Given the description of an element on the screen output the (x, y) to click on. 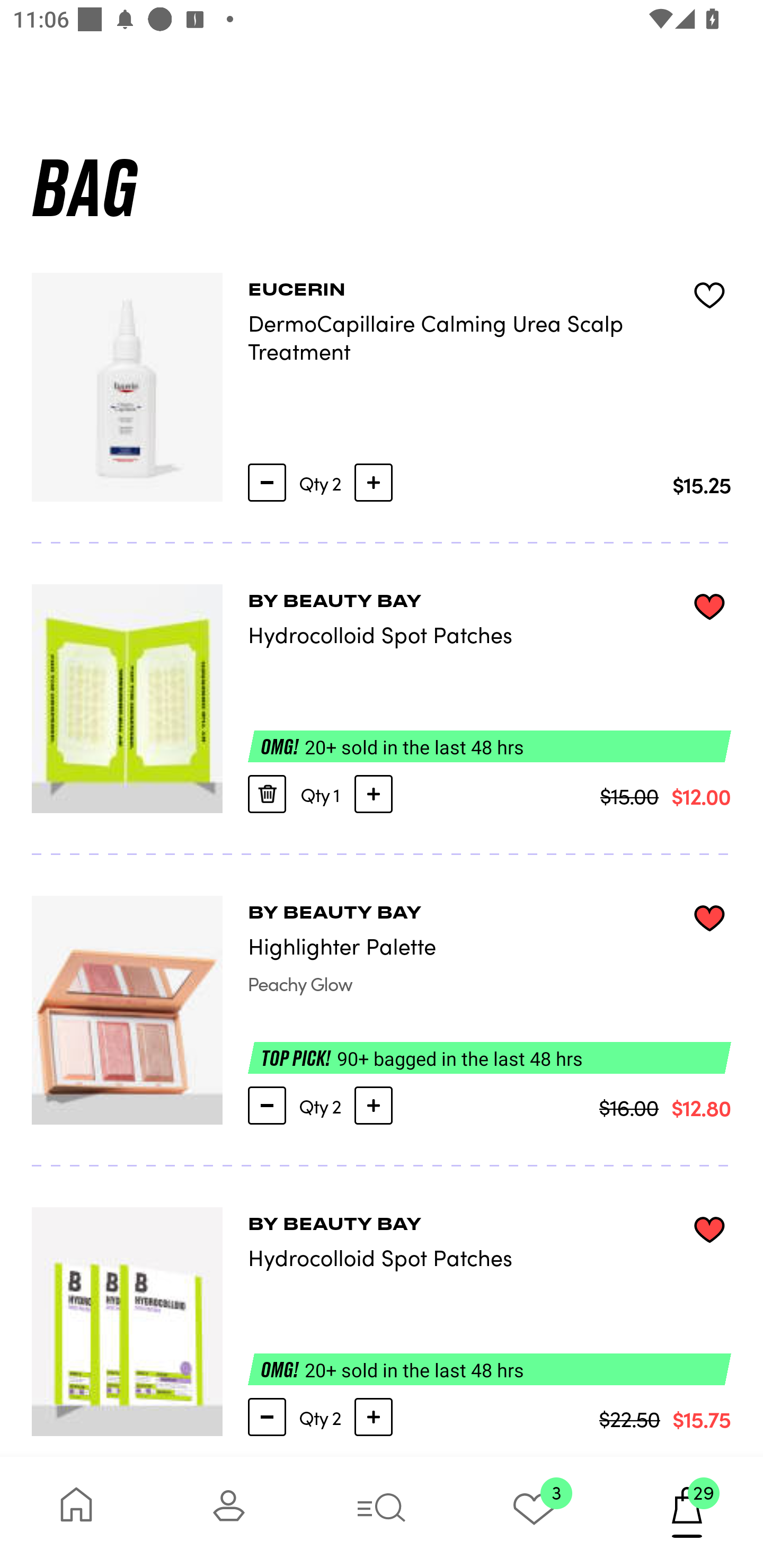
3 (533, 1512)
29 (686, 1512)
